Given the description of an element on the screen output the (x, y) to click on. 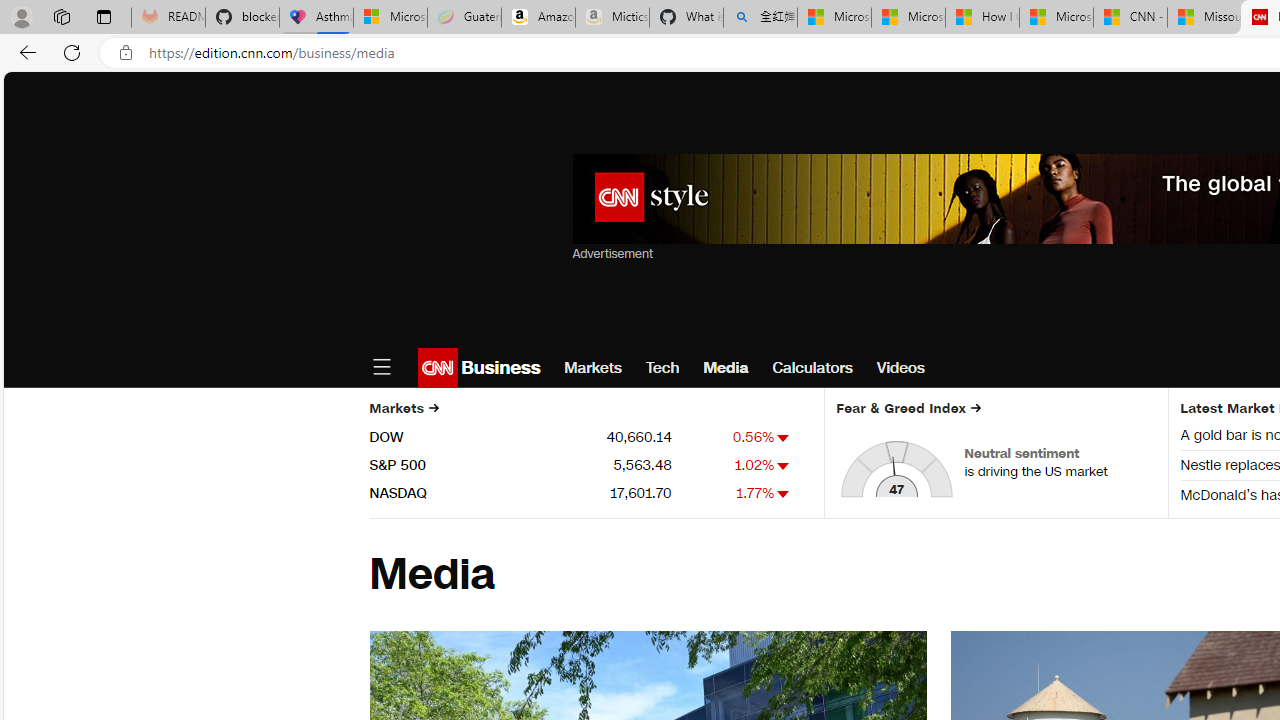
Calculators (811, 367)
Tech (662, 367)
Markets (593, 367)
CNN logo (437, 367)
How I Got Rid of Microsoft Edge's Unnecessary Features (981, 17)
Asthma Inhalers: Names and Types (316, 17)
